Given the description of an element on the screen output the (x, y) to click on. 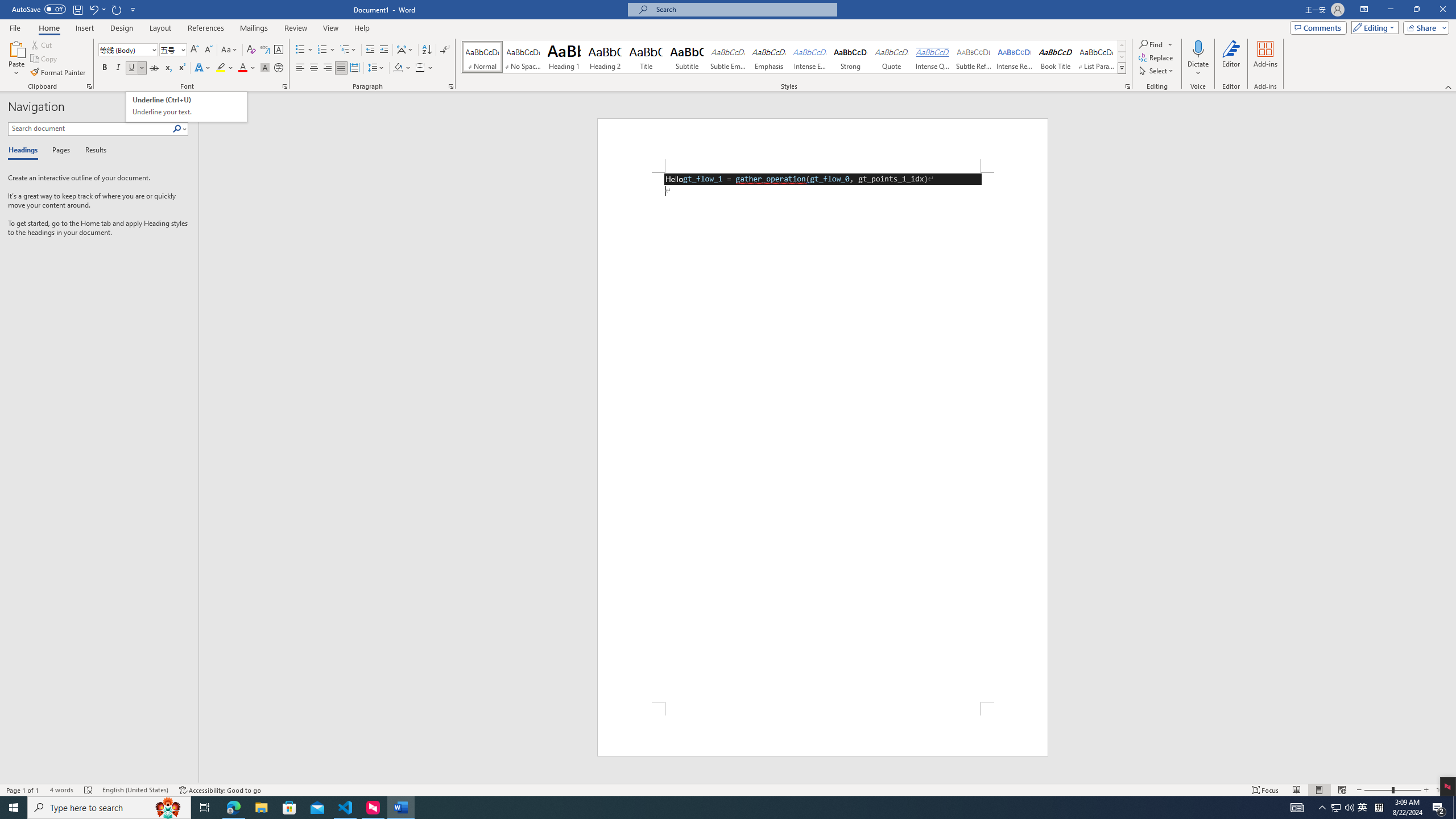
Book Title (1055, 56)
